Given the description of an element on the screen output the (x, y) to click on. 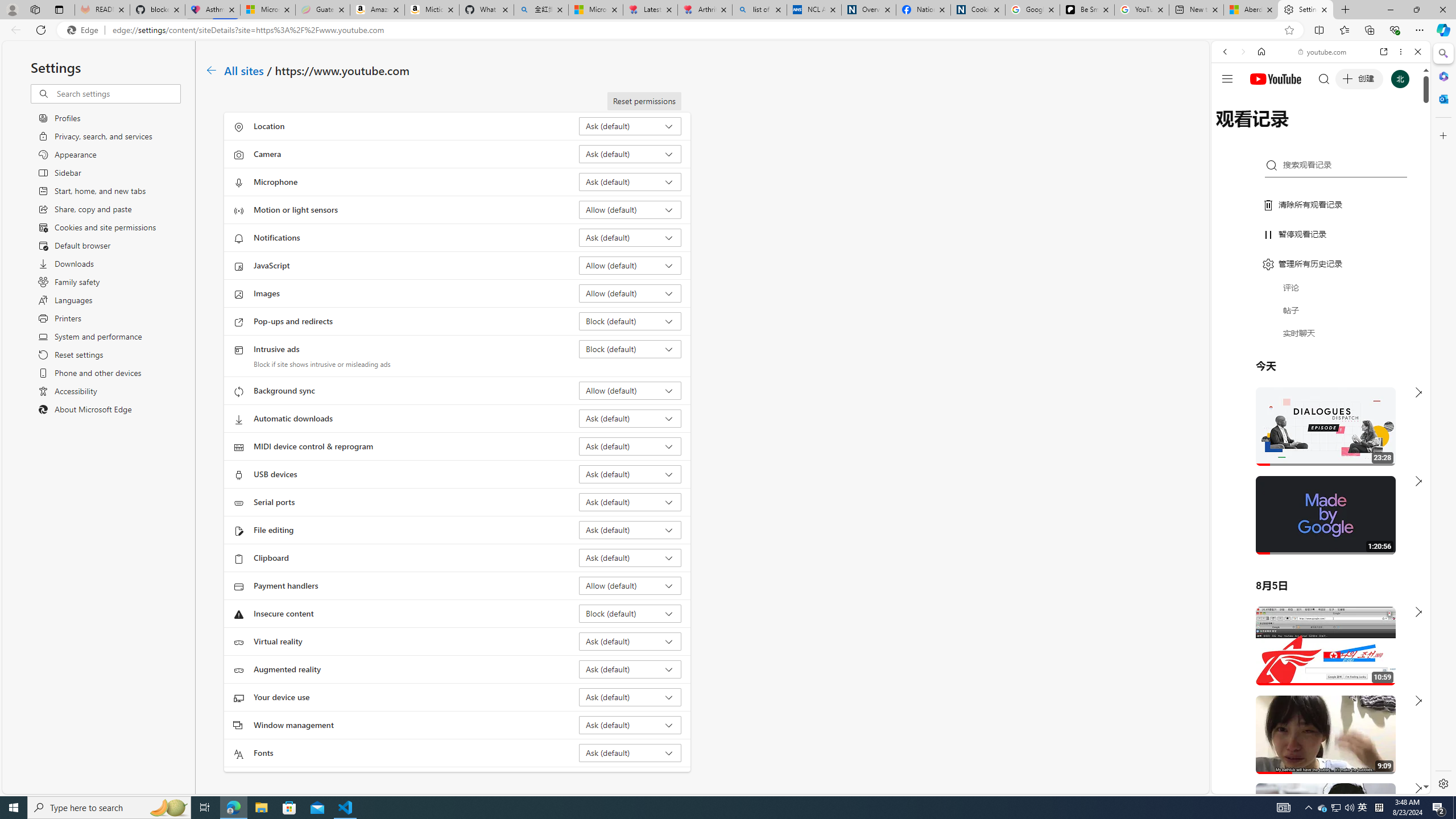
youtube.com (1322, 51)
Augmented reality Ask (default) (630, 669)
Motion or light sensors Allow (default) (630, 209)
Payment handlers Allow (default) (630, 585)
Camera Ask (default) (630, 153)
